Given the description of an element on the screen output the (x, y) to click on. 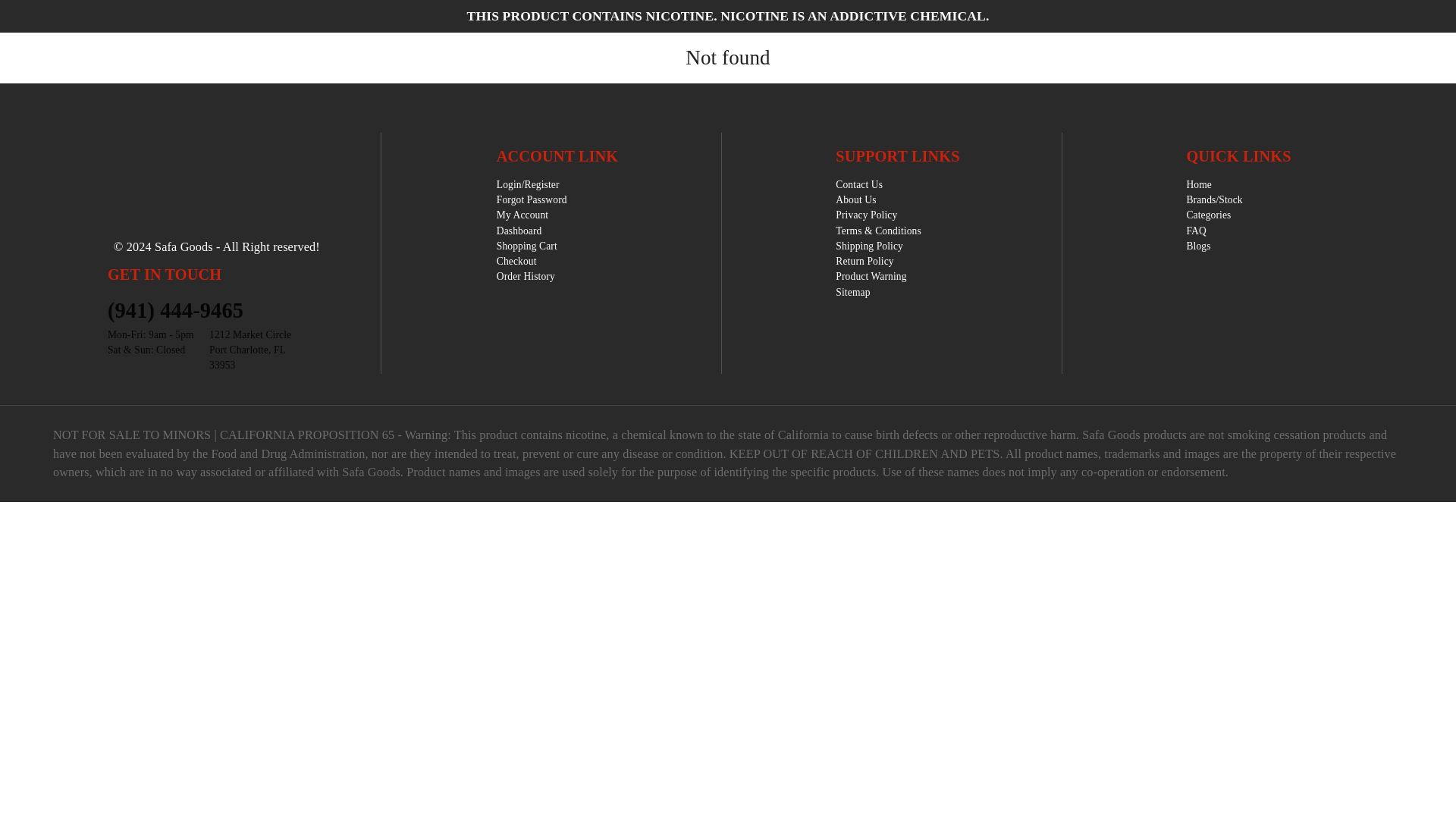
Dashboard (531, 231)
Shipping Policy (877, 246)
Shopping Cart (531, 246)
Checkout (531, 261)
My Account (531, 215)
FAQ (1213, 231)
Contact Us (877, 184)
Privacy Policy (877, 215)
About Us (877, 200)
Return Policy (877, 261)
Categories (1213, 215)
Sitemap (852, 292)
Order History (531, 276)
Forgot Password (531, 200)
Blogs (1213, 246)
